Given the description of an element on the screen output the (x, y) to click on. 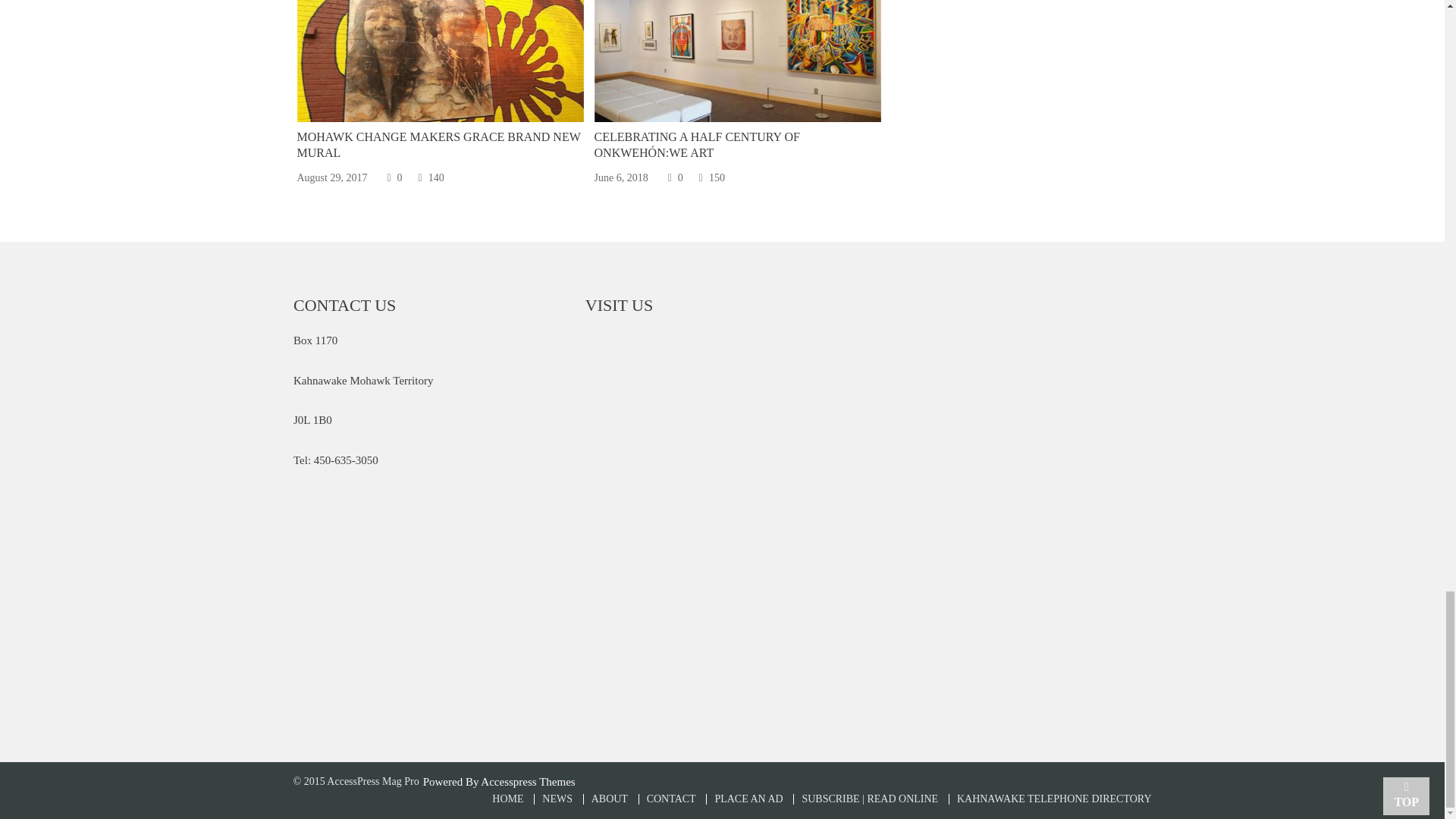
Mohawk change makers grace brand new mural (438, 144)
August 29, 2017 (332, 177)
Mohawk change makers grace brand new mural (440, 42)
MOHAWK CHANGE MAKERS GRACE BRAND NEW MURAL (438, 144)
Mohawk change makers grace brand new mural (440, 61)
June 6, 2018 (620, 177)
